Given the description of an element on the screen output the (x, y) to click on. 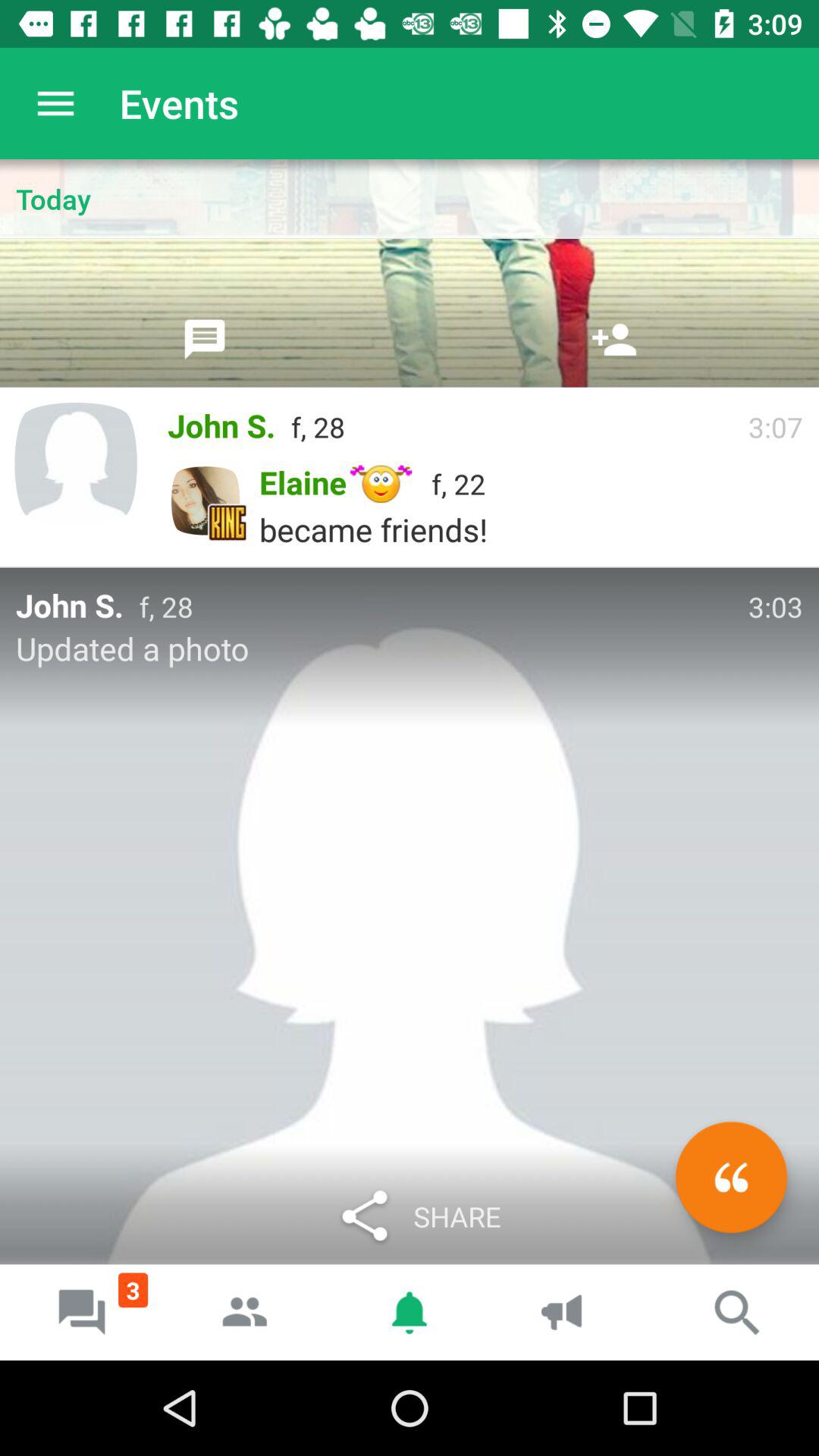
send message (204, 339)
